Given the description of an element on the screen output the (x, y) to click on. 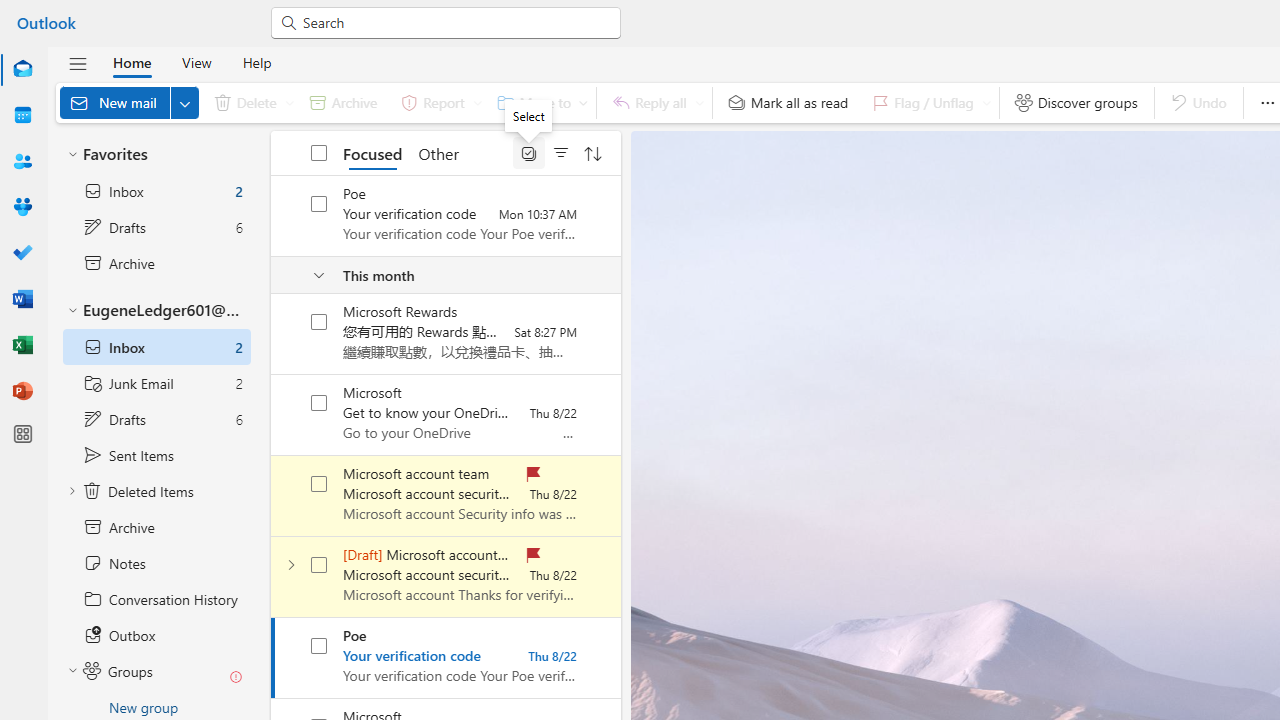
Word (22, 298)
Delete (250, 102)
Help (256, 61)
Reply all (654, 102)
AutomationID: checkbox-172 (319, 564)
Mark as read (273, 657)
AutomationID: checkbox-103 (319, 203)
Select (529, 152)
Groups (22, 206)
Expand conversation (291, 564)
To Do (22, 252)
